Given the description of an element on the screen output the (x, y) to click on. 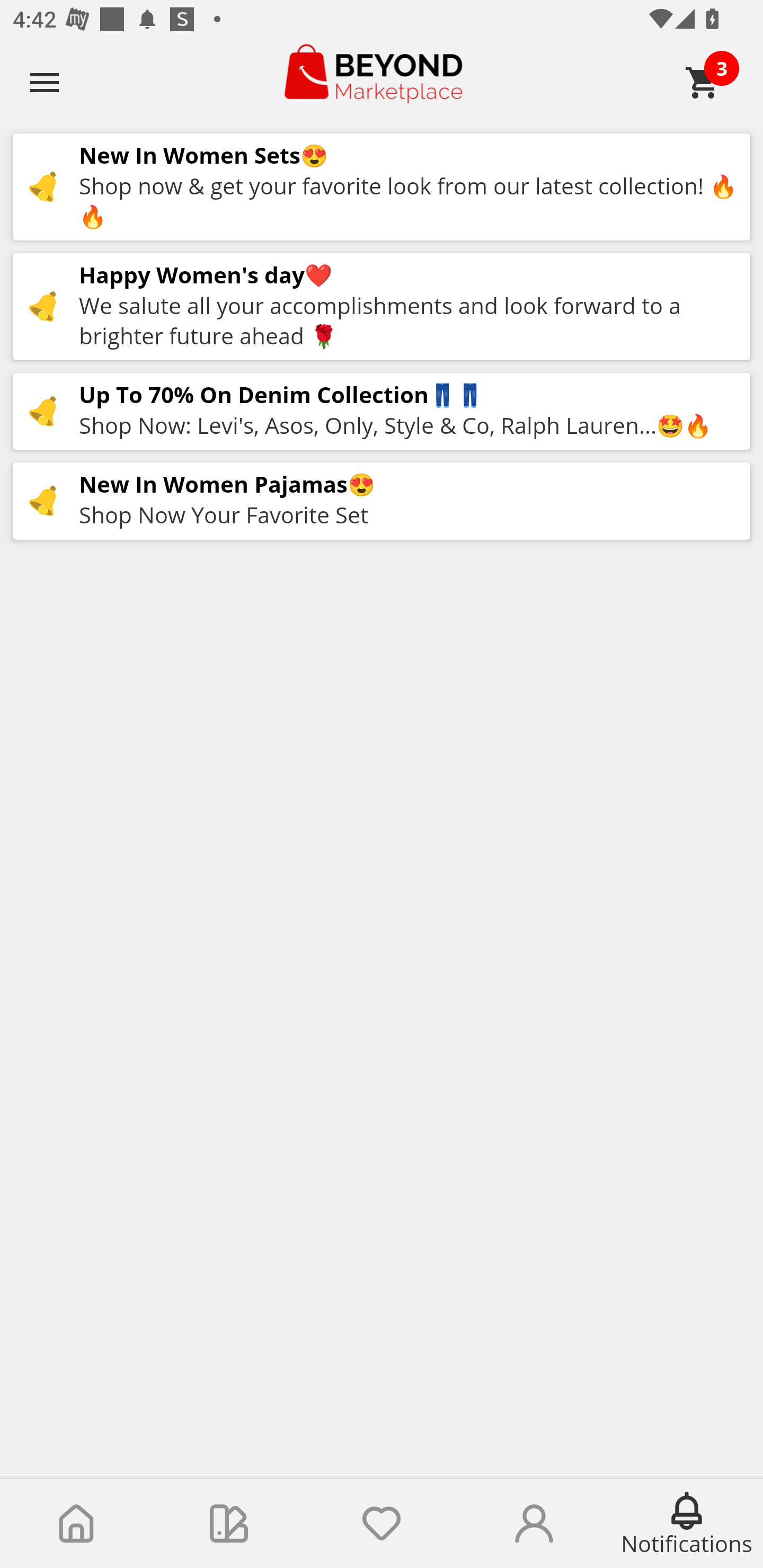
Navigate up (44, 82)
New In Women Pajamas😍 Shop Now Your Favorite Set (381, 500)
Home (76, 1523)
Collections (228, 1523)
Wishlist (381, 1523)
Account (533, 1523)
